Given the description of an element on the screen output the (x, y) to click on. 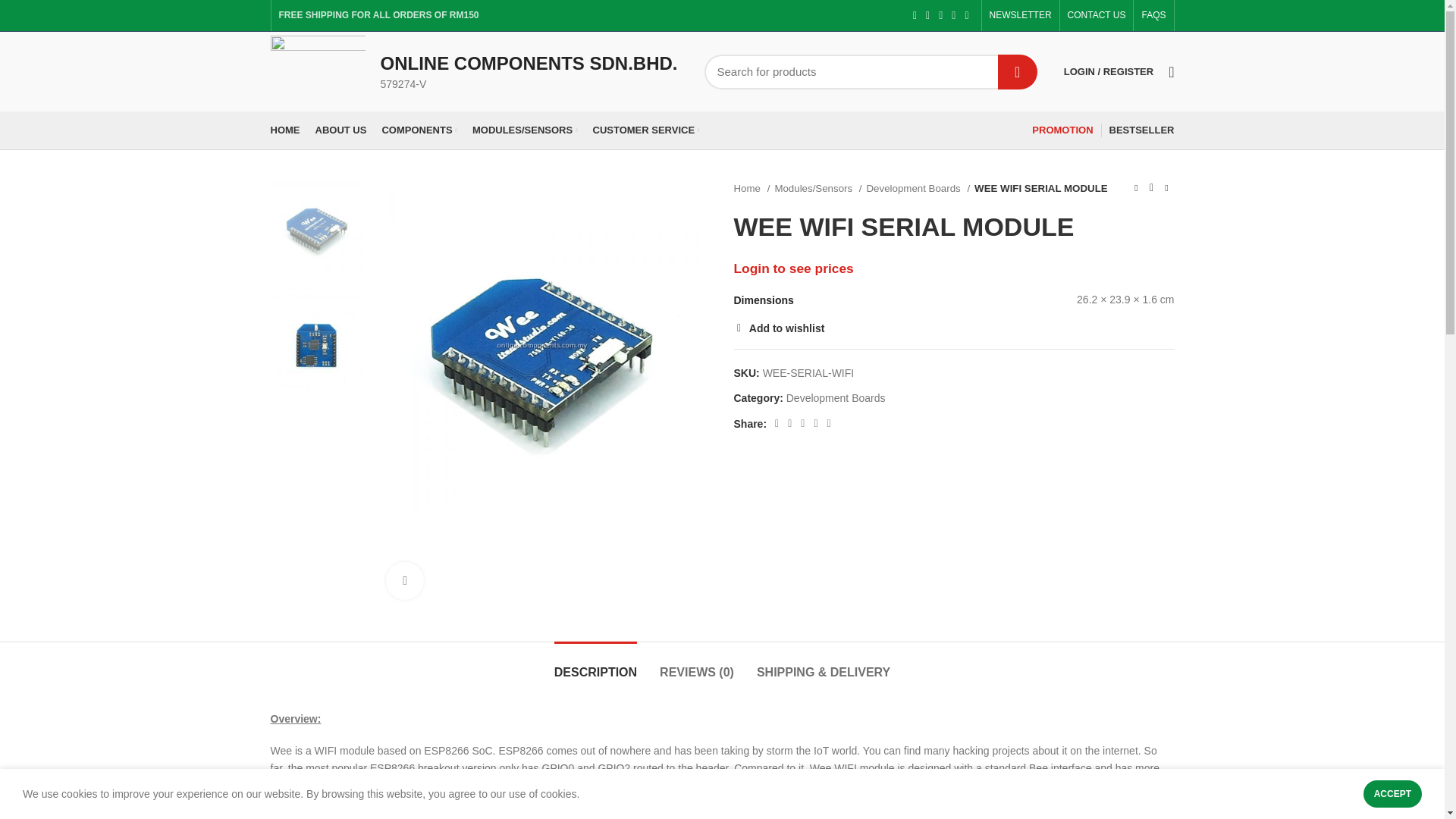
FAQS (1153, 15)
CONTACT US (1096, 15)
HOME (284, 130)
My account (1108, 71)
SEARCH (1016, 71)
COMPONENTS (419, 130)
NEWSLETTER (1020, 15)
ABOUT US (340, 130)
Search for products (870, 71)
